Given the description of an element on the screen output the (x, y) to click on. 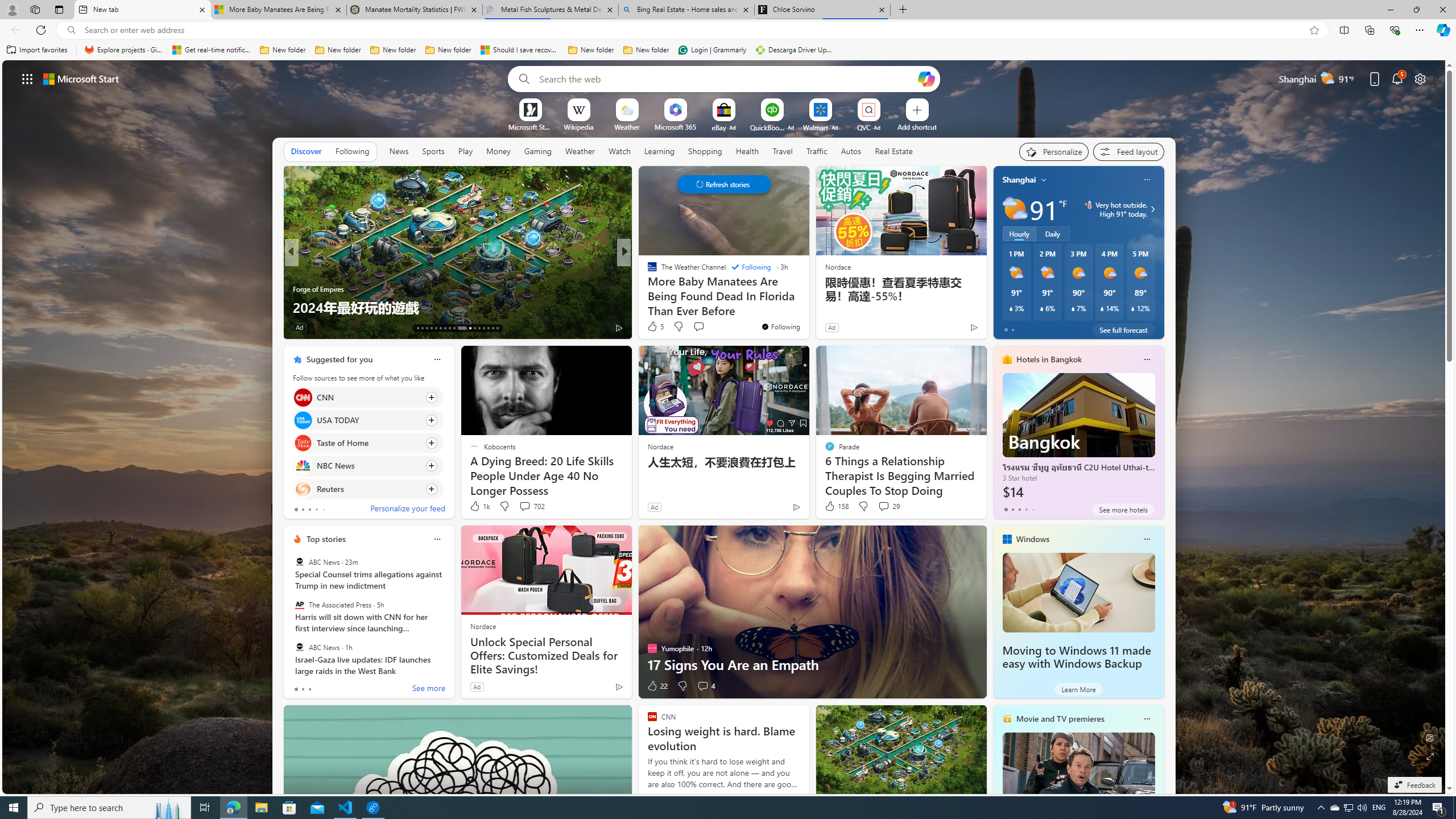
Class: weather-current-precipitation-glyph (1133, 308)
Should I save recovered Word documents? - Microsoft Support (519, 49)
Partly sunny (1014, 208)
USA TODAY (302, 419)
Sports (432, 151)
Following (352, 151)
Following (352, 151)
View comments 29 Comment (883, 505)
View comments 58 Comment (6, 327)
Traffic (816, 151)
Hide this story (597, 359)
News (398, 151)
More options (1146, 718)
